Given the description of an element on the screen output the (x, y) to click on. 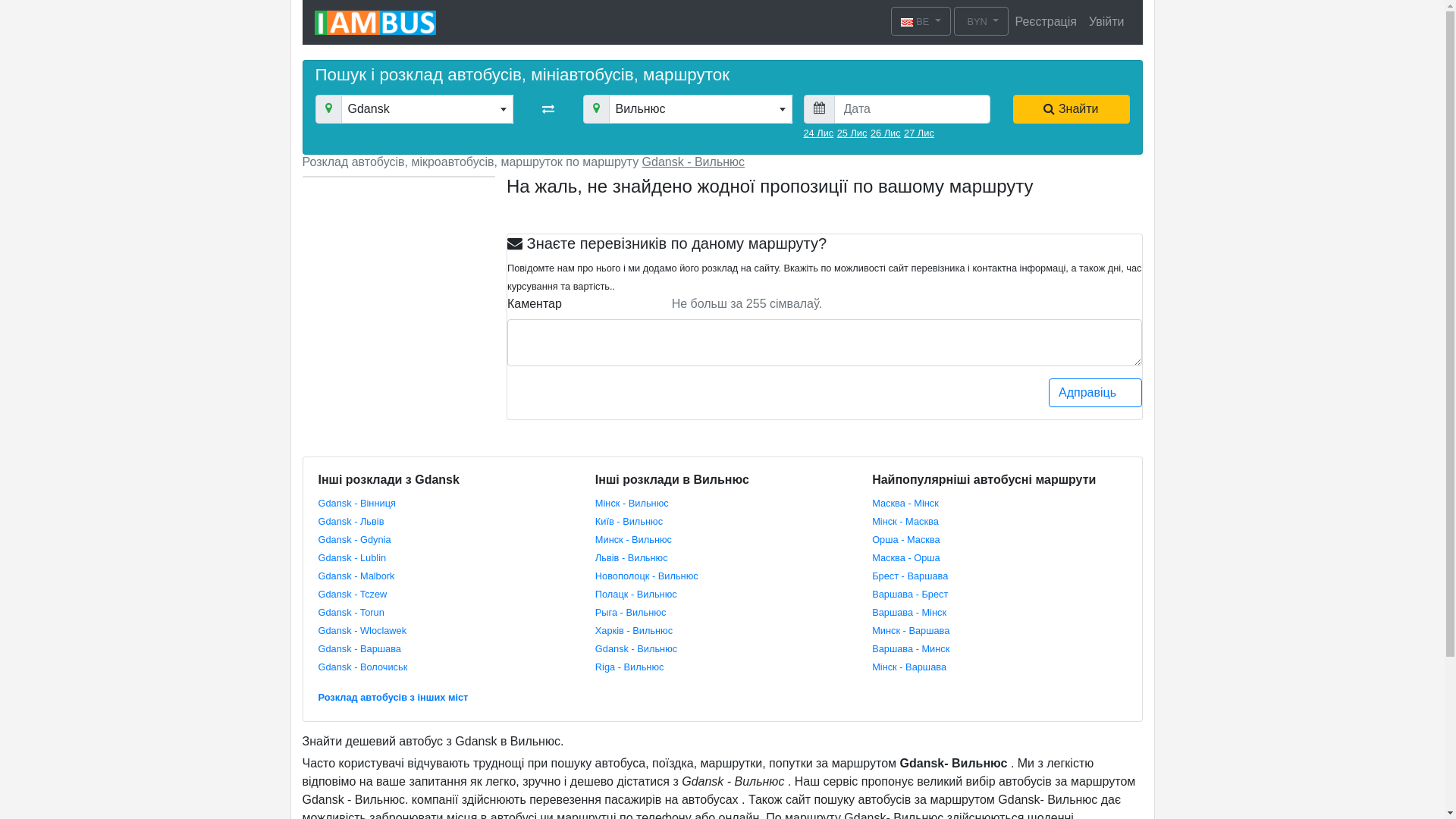
Gdansk - Torun Element type: text (351, 611)
Gdansk - Lublin Element type: text (352, 556)
Gdansk - Tczew Element type: text (352, 592)
Gdansk - Gdynia Element type: text (354, 538)
BE Element type: text (920, 20)
Gdansk - Wloclawek Element type: text (362, 629)
BYN Element type: text (980, 20)
Gdansk - Malbork Element type: text (356, 574)
